Given the description of an element on the screen output the (x, y) to click on. 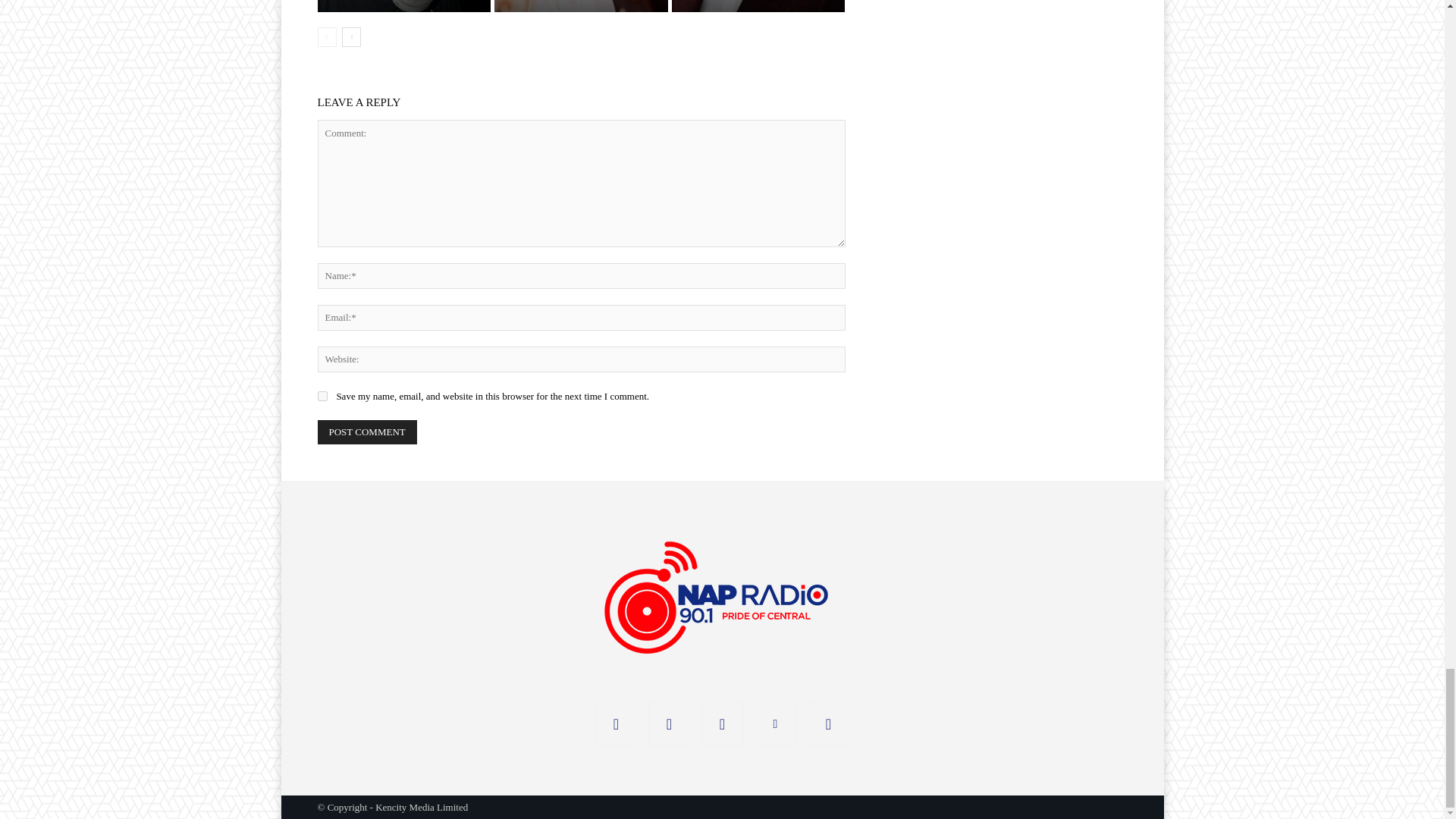
Post Comment (366, 432)
yes (321, 396)
